Given the description of an element on the screen output the (x, y) to click on. 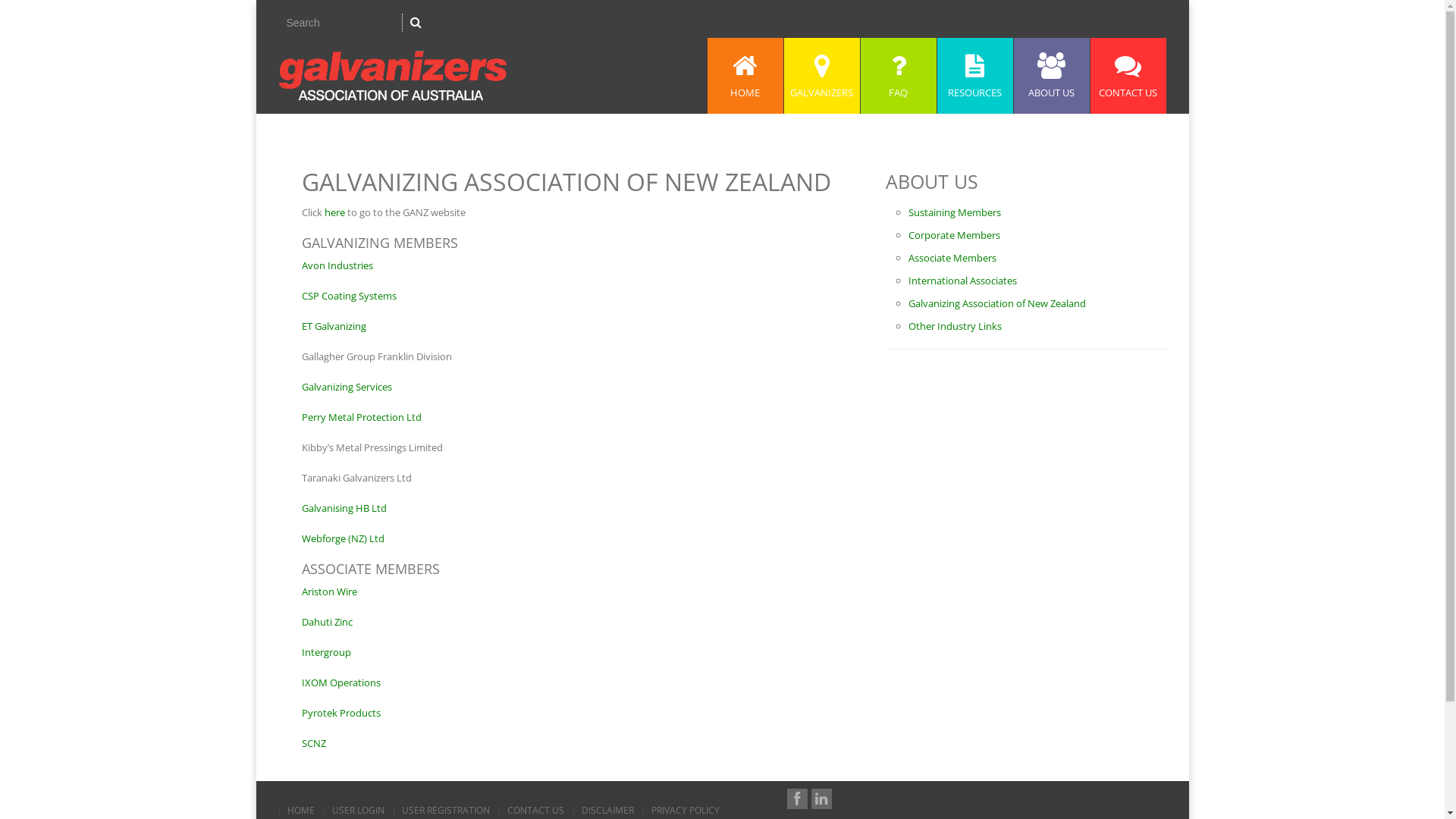
International Associates Element type: text (962, 280)
Corporate Members Element type: text (954, 234)
here Element type: text (334, 212)
ABOUT US Element type: text (1050, 75)
SCNZ Element type: text (313, 742)
IXOM Operations Element type: text (340, 682)
Dahuti Zinc Element type: text (326, 621)
Galvanizing Services Element type: text (346, 386)
Intergroup Element type: text (326, 651)
Galvanizing Association of New Zealand Element type: text (996, 303)
HOME Element type: text (744, 75)
USER LOGIN Element type: text (357, 810)
Ariston Wire Element type: text (329, 591)
USER REGISTRATION Element type: text (444, 810)
Perry Metal Protection Ltd Element type: text (361, 416)
Galvanising HB Ltd Element type: text (343, 507)
DISCLAIMER Element type: text (607, 810)
RESOURCES Element type: text (975, 75)
Pyrotek Products Element type: text (340, 712)
FAQ Element type: text (897, 75)
CONTACT US Element type: text (1128, 75)
CSP Coating Systems Element type: text (348, 295)
Avon Industries Element type: text (337, 265)
Associate Members Element type: text (952, 257)
GALVANIZERS Element type: text (821, 75)
Other Industry Links Element type: text (954, 325)
HOME Element type: text (300, 810)
Sustaining Members Element type: text (954, 212)
Webforge (NZ) Ltd Element type: text (342, 538)
PRIVACY POLICY Element type: text (685, 810)
CONTACT US Element type: text (534, 810)
ET Galvanizing Element type: text (333, 325)
